Given the description of an element on the screen output the (x, y) to click on. 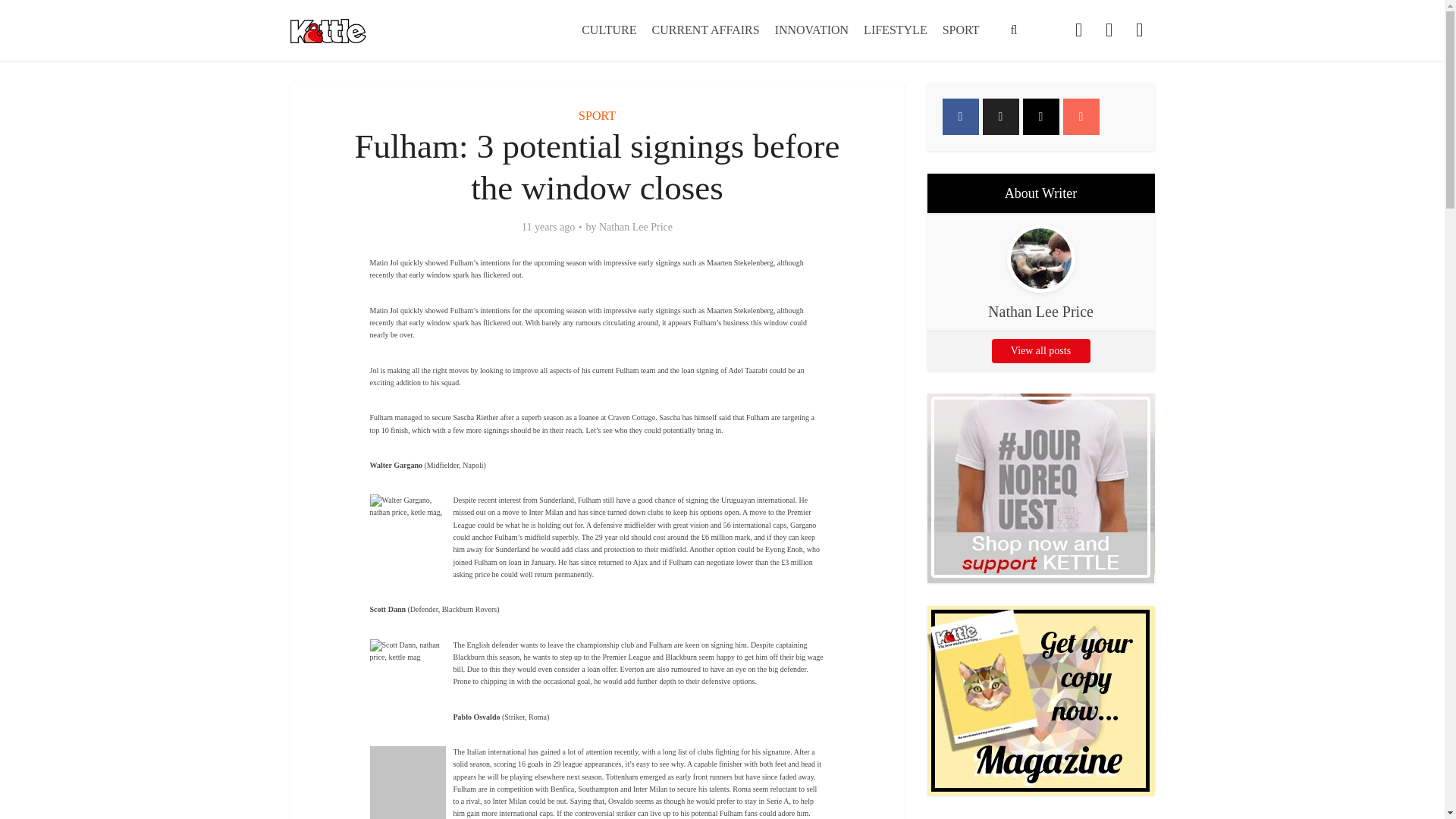
Nathan Lee Price (635, 227)
CURRENT AFFAIRS (706, 30)
LIFESTYLE (895, 30)
INNOVATION (811, 30)
Facebook (960, 116)
Instagram (1040, 116)
SPORT (596, 115)
CULTURE (608, 30)
